Given the description of an element on the screen output the (x, y) to click on. 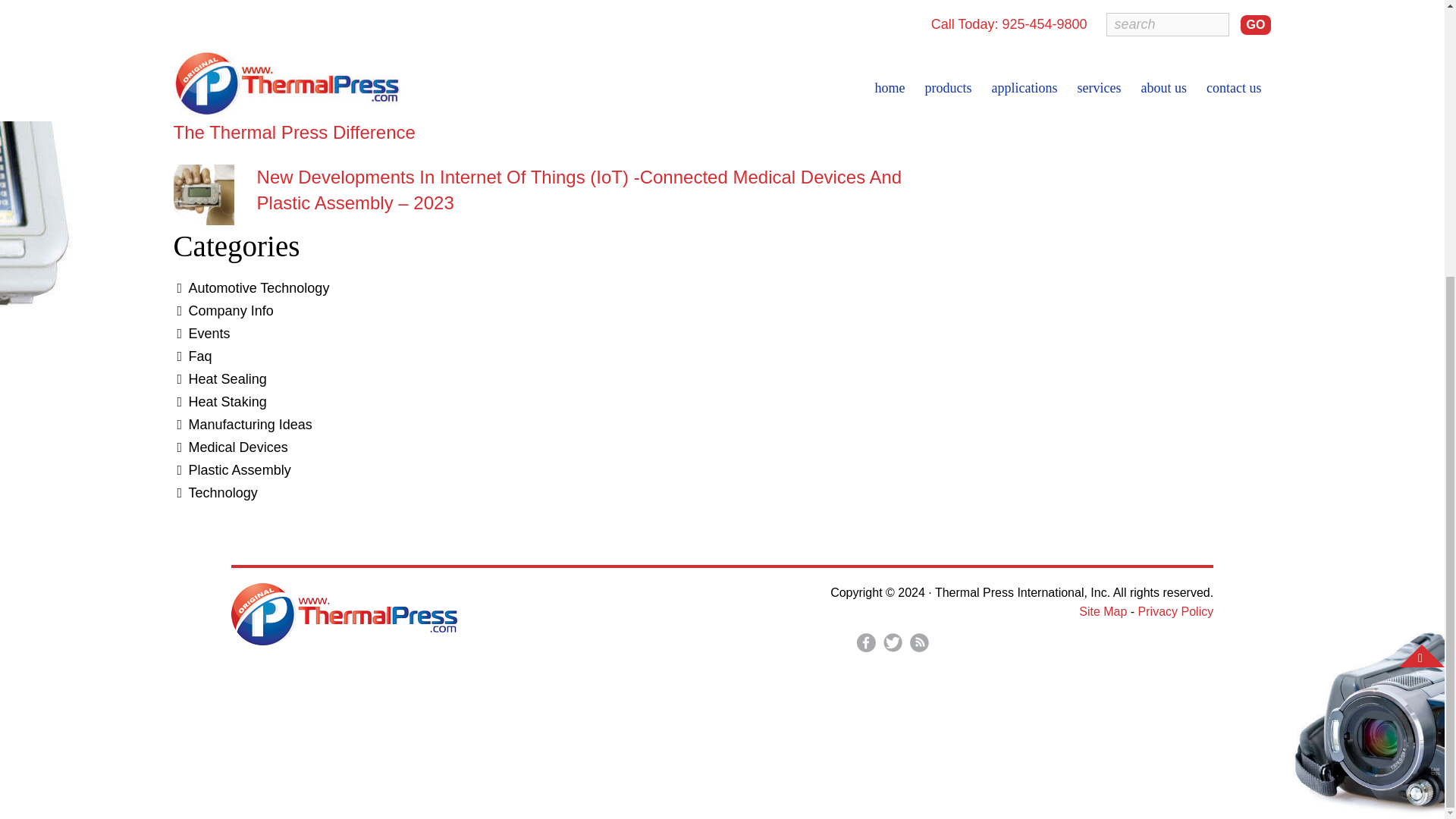
The Thermal Press Difference (293, 132)
